Given the description of an element on the screen output the (x, y) to click on. 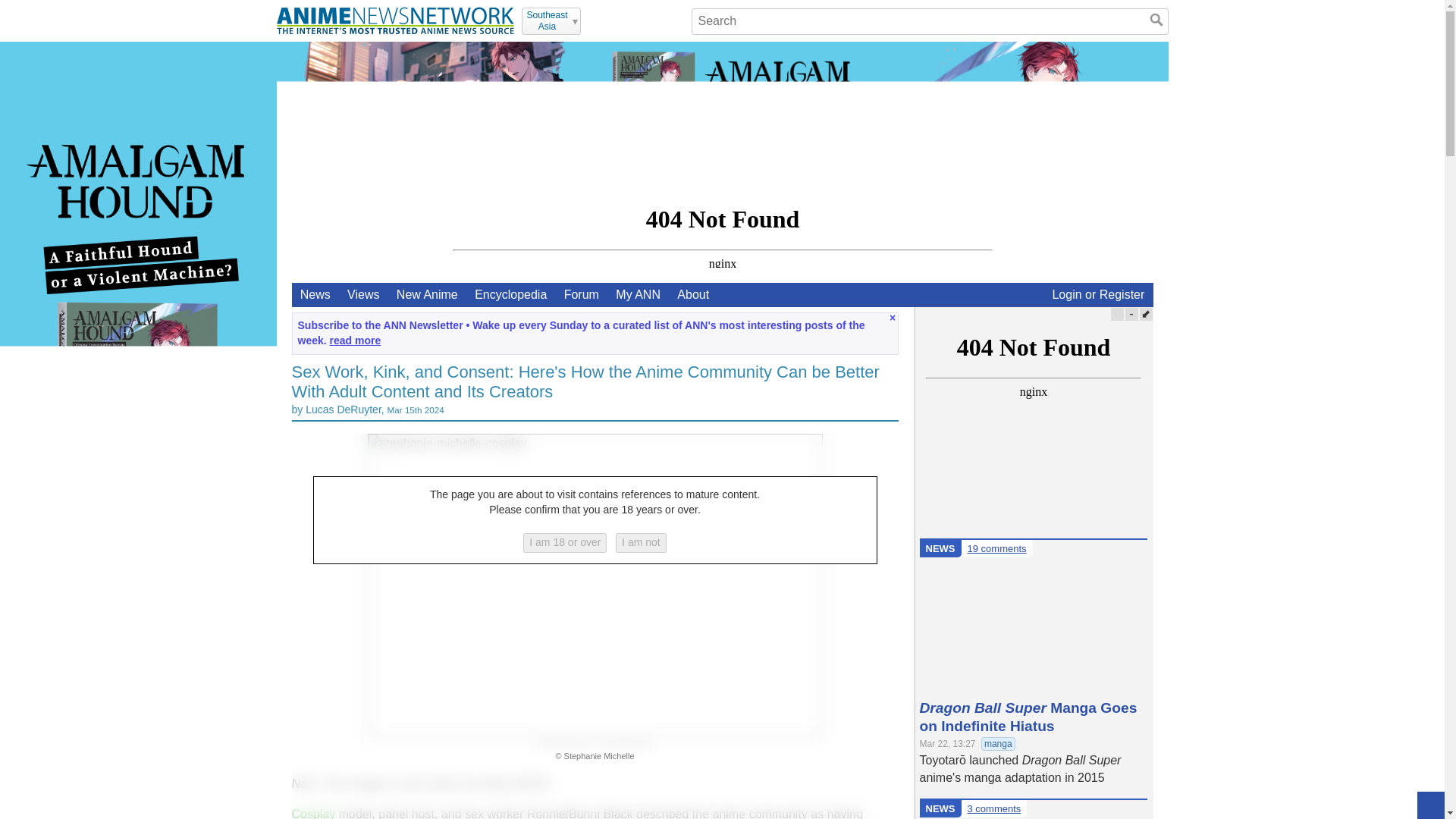
Youtube (614, 20)
Return to Homepage (394, 20)
TikTok (673, 20)
Instagram (654, 20)
Facebook (634, 20)
Choose Your Edition (550, 21)
Twitter (595, 20)
